Given the description of an element on the screen output the (x, y) to click on. 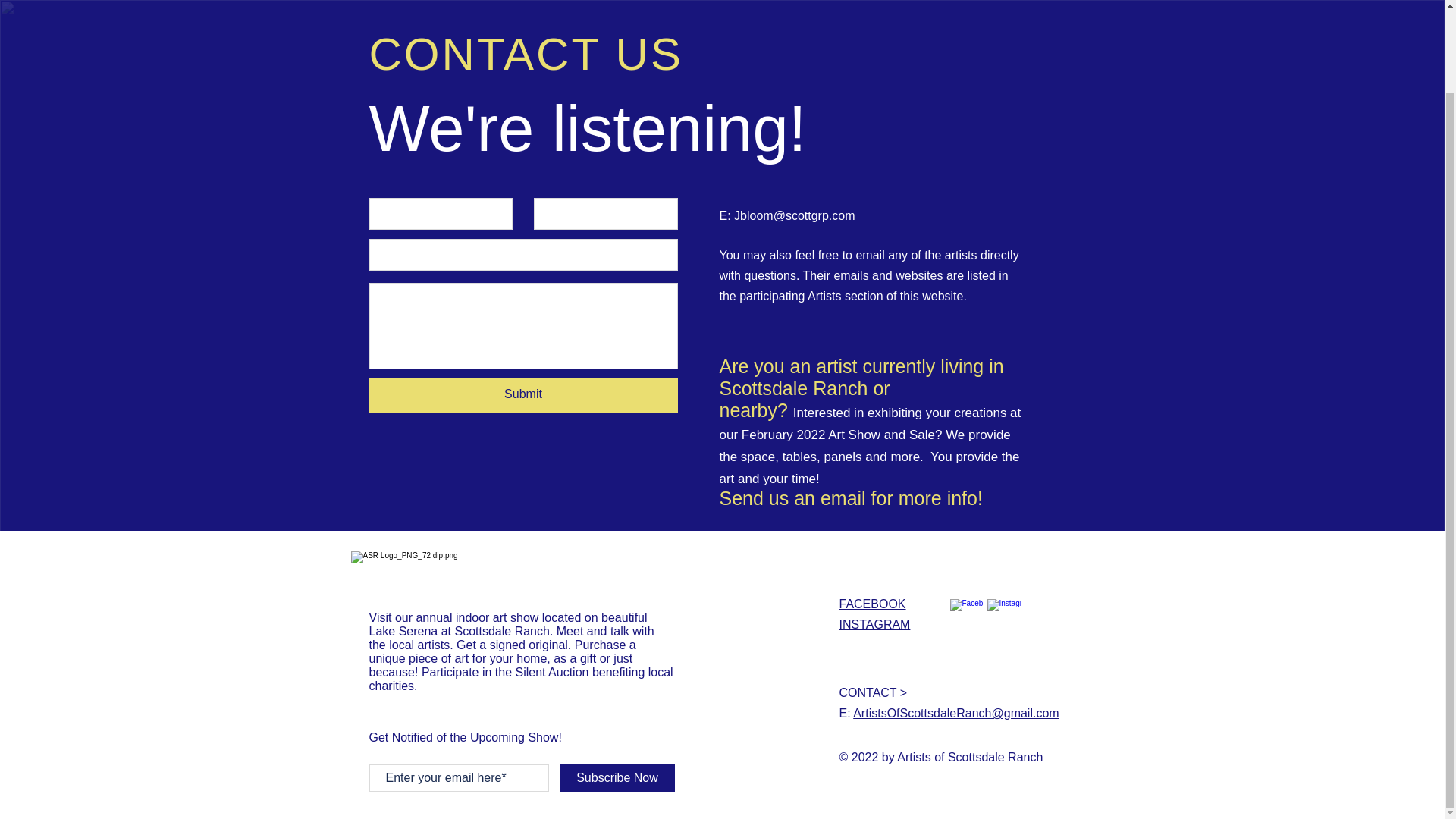
Subscribe Now (616, 777)
Submit (522, 394)
FACEBOOK (871, 603)
INSTAGRAM (874, 624)
